Given the description of an element on the screen output the (x, y) to click on. 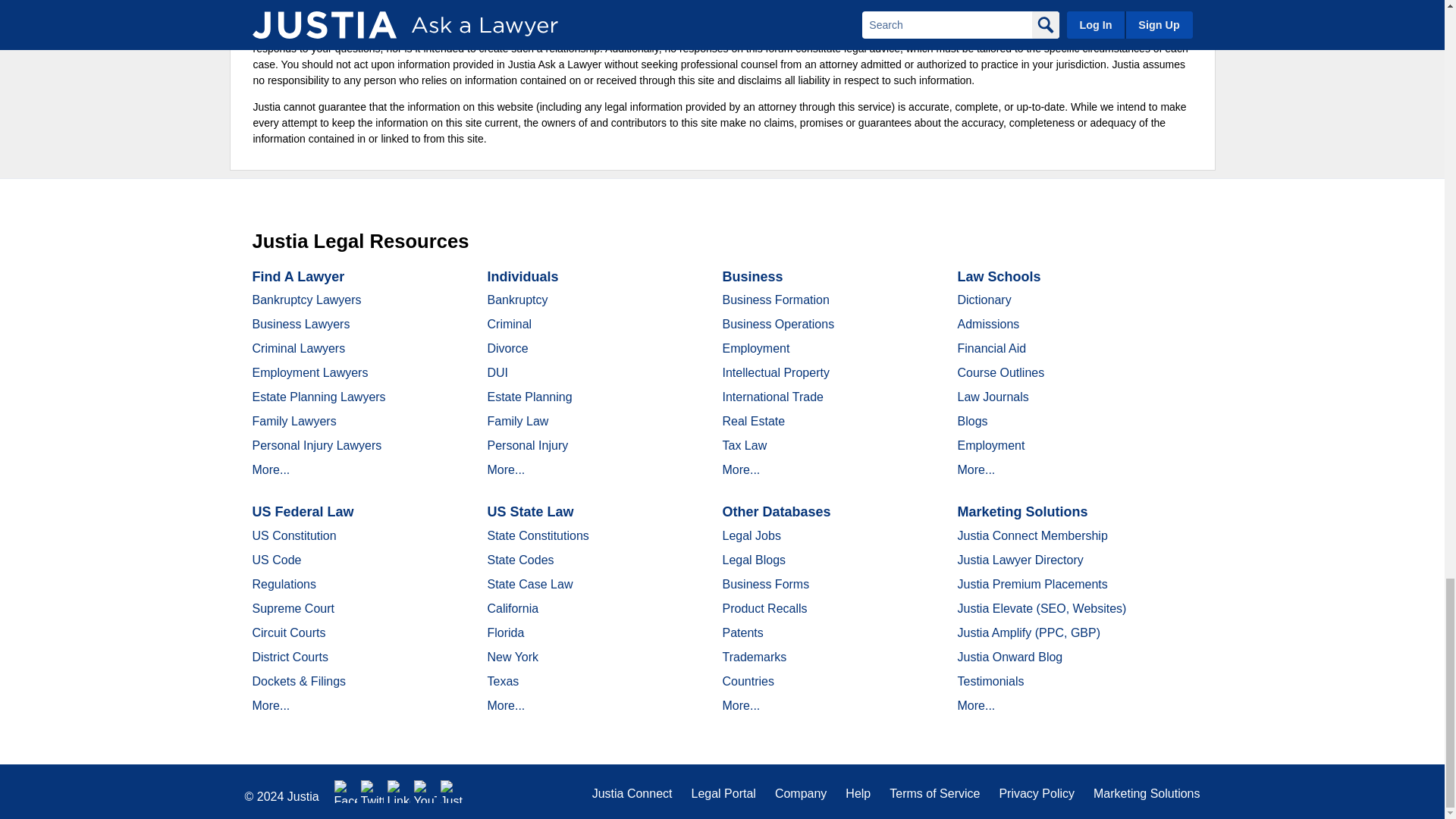
Facebook (345, 791)
